Given the description of an element on the screen output the (x, y) to click on. 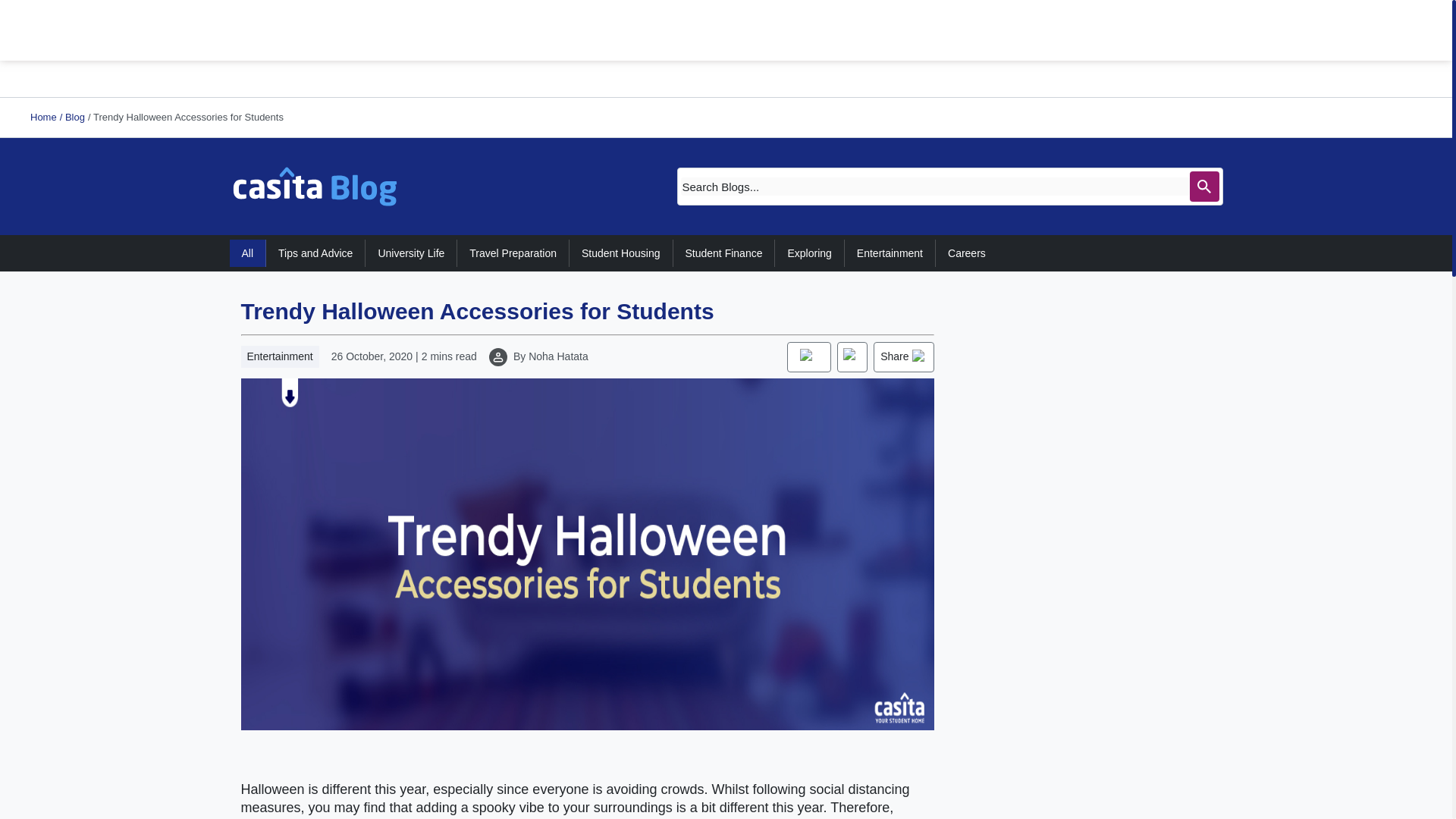
Student Finance (724, 252)
Entertainment (890, 252)
Travel Preparation (513, 252)
University Life (411, 252)
Exploring (809, 252)
Tips and Advice (315, 252)
Home (43, 116)
Careers (966, 252)
All (247, 252)
Student Housing (620, 252)
